Given the description of an element on the screen output the (x, y) to click on. 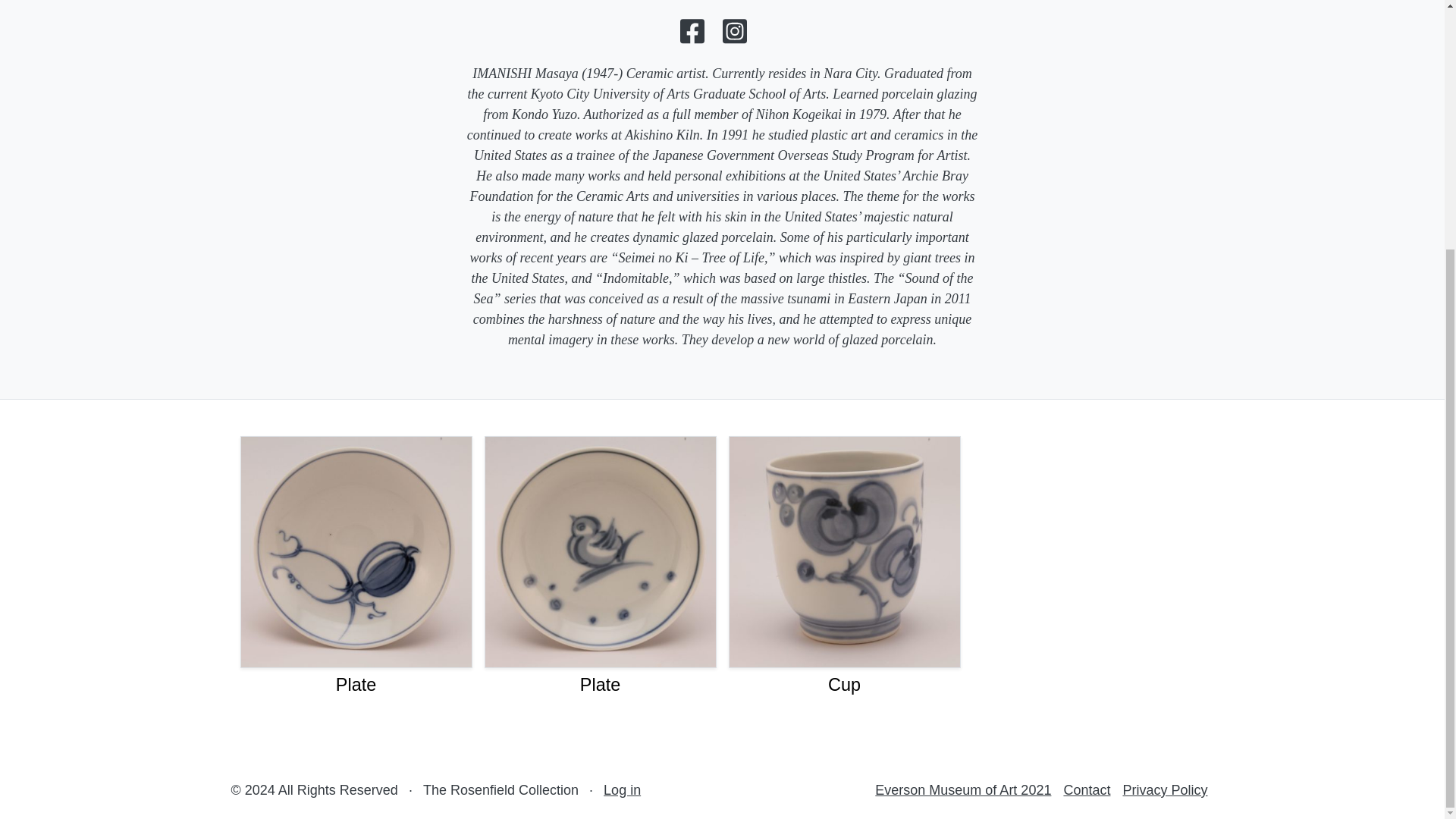
Cup (844, 684)
Contact (1086, 789)
Plate (355, 684)
Log in (622, 789)
Plate (599, 684)
Privacy Policy (1164, 789)
Everson Museum of Art 2021 (963, 789)
